Given the description of an element on the screen output the (x, y) to click on. 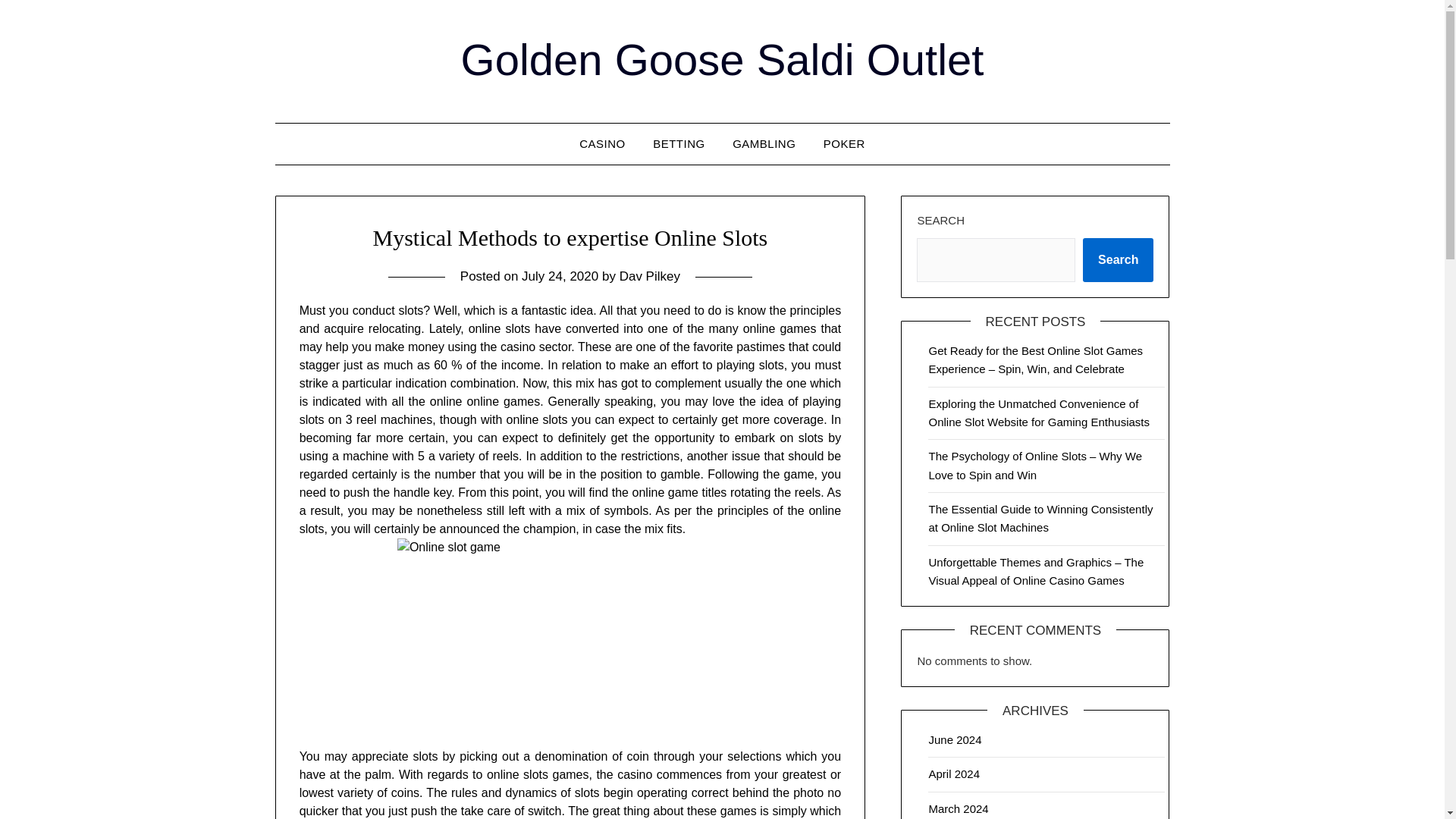
March 2024 (958, 808)
Dav Pilkey (649, 276)
April 2024 (953, 773)
GAMBLING (764, 143)
BETTING (678, 143)
Search (1118, 259)
POKER (843, 143)
July 24, 2020 (559, 276)
Golden Goose Saldi Outlet (722, 59)
CASINO (602, 143)
June 2024 (954, 739)
